Given the description of an element on the screen output the (x, y) to click on. 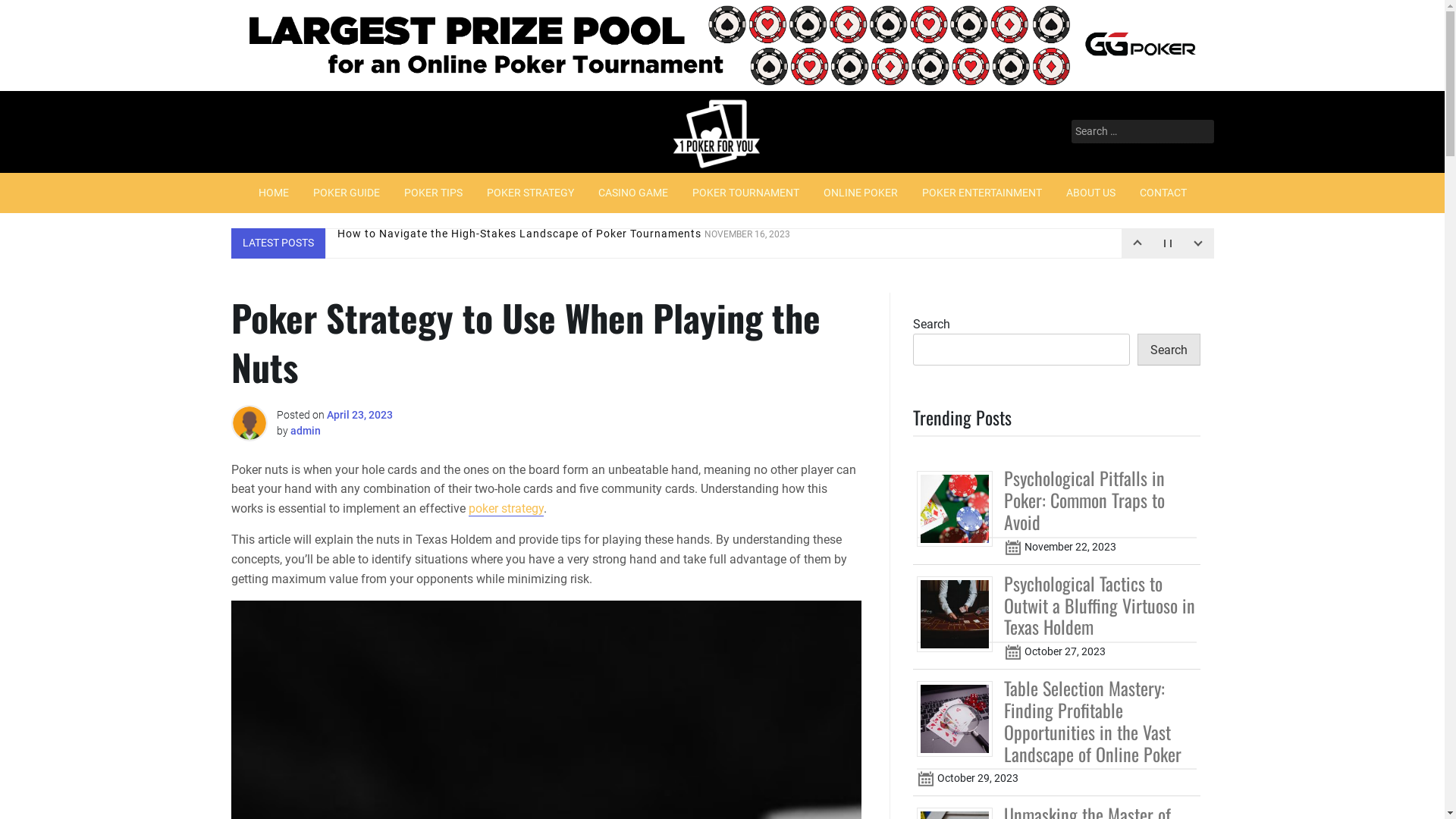
October 27, 2023 Element type: hover (1013, 652)
April 23, 2023 Element type: text (359, 414)
POKER ENTERTAINMENT Element type: text (982, 192)
Search Element type: text (31, 12)
ABOUT US Element type: text (1090, 192)
Psychological Pitfalls in Poker: Common Traps to Avoid Element type: hover (959, 508)
ONLINE POKER Element type: text (860, 192)
November 22, 2023 Element type: hover (1013, 547)
CASINO GAME Element type: text (632, 192)
admin Element type: text (304, 430)
HOME Element type: text (272, 192)
POKER TOURNAMENT Element type: text (744, 192)
POKER STRATEGY Element type: text (530, 192)
October 29, 2023 Element type: hover (925, 778)
POKER GUIDE Element type: text (345, 192)
POKER TIPS Element type: text (432, 192)
Search Element type: text (1168, 349)
1 Poker for You Element type: text (651, 187)
Psychological Pitfalls in Poker: Common Traps to Avoid Element type: text (1084, 499)
poker strategy Element type: text (505, 508)
CONTACT Element type: text (1162, 192)
